Given the description of an element on the screen output the (x, y) to click on. 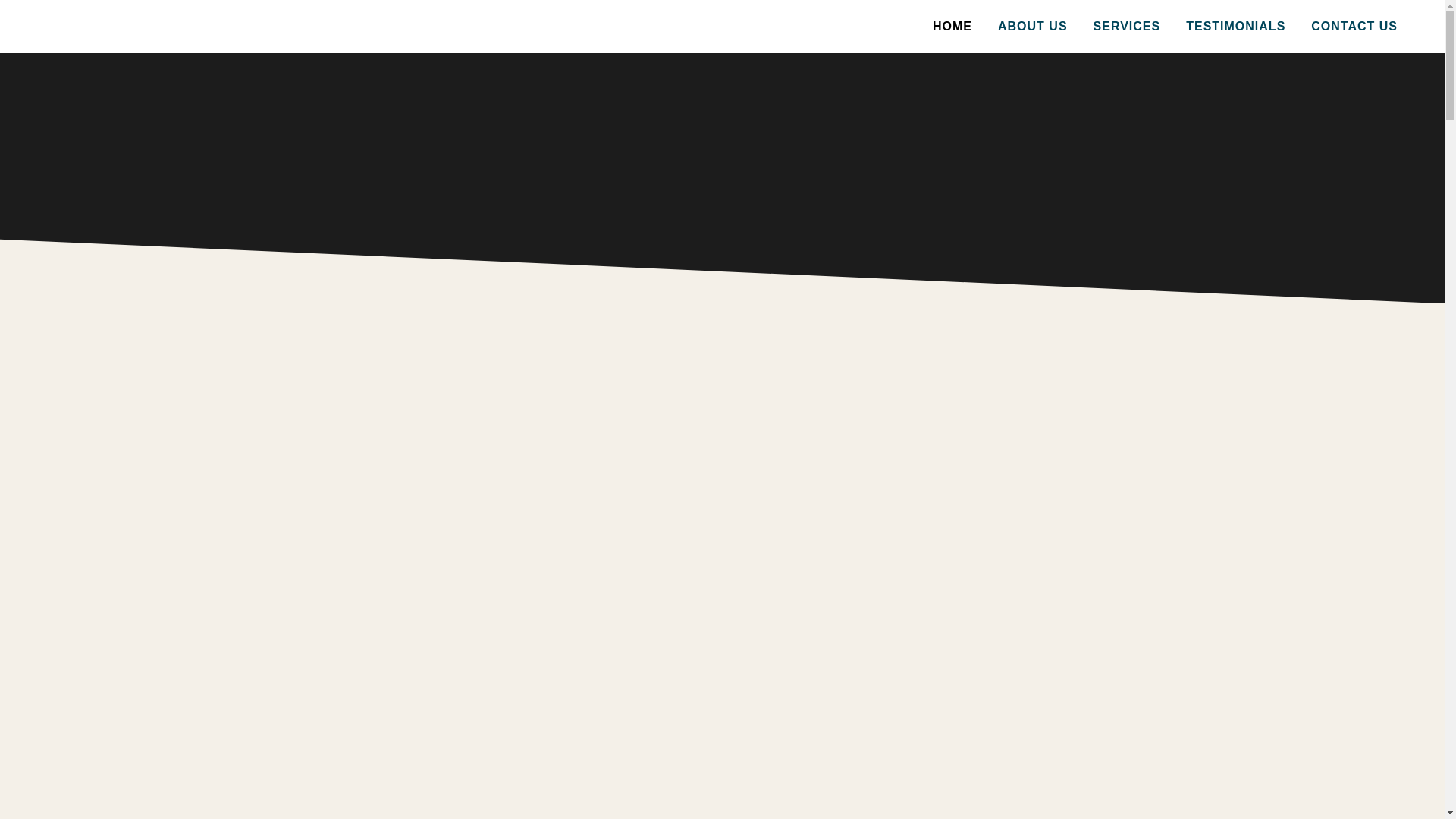
ABOUT US (1032, 26)
SERVICES (1126, 26)
CONTACT US (1354, 26)
HOME (952, 26)
TESTIMONIALS (1235, 26)
